Given the description of an element on the screen output the (x, y) to click on. 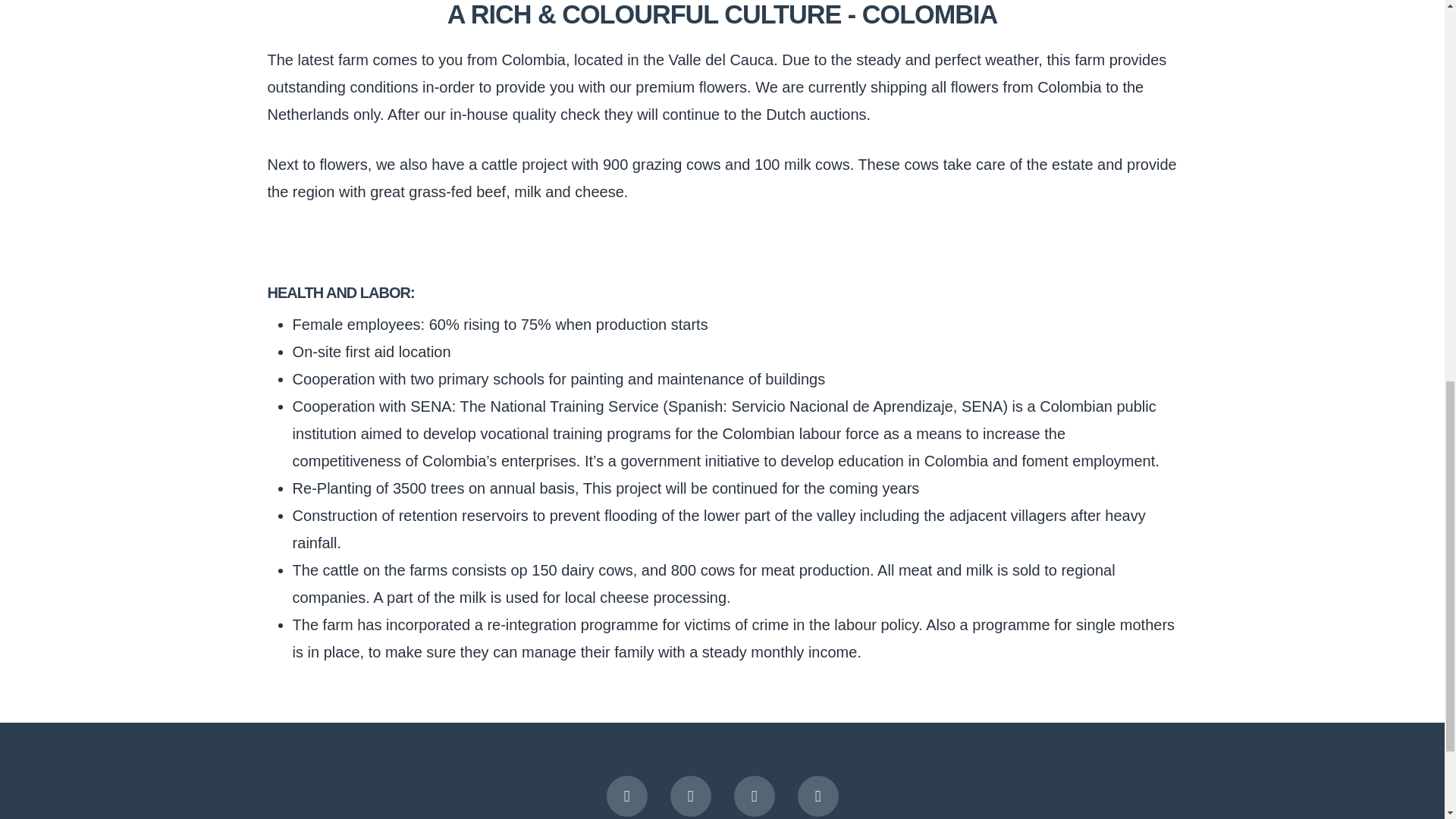
Facebook (627, 795)
YouTube (690, 795)
Instagram (753, 795)
Pinterest (817, 795)
